Given the description of an element on the screen output the (x, y) to click on. 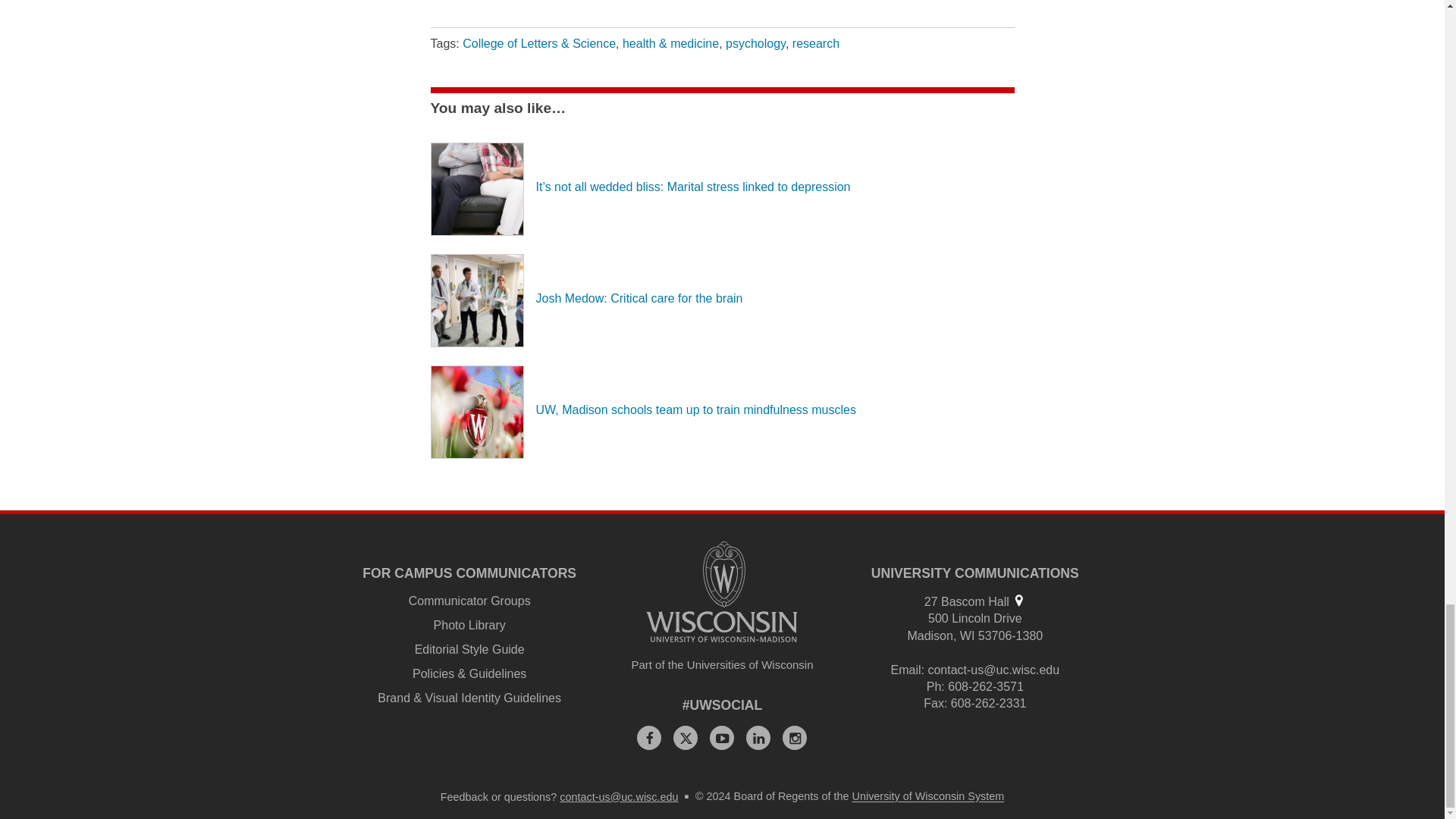
Josh Medow: Critical care for the brain (638, 297)
View on campus map (1018, 599)
YouTube (721, 737)
psychology (755, 42)
Facebook (649, 737)
Instagram (794, 737)
phone (934, 686)
UW, Madison schools team up to train mindfulness muscles (695, 409)
Social media links (722, 704)
Wisconsin (967, 635)
